Given the description of an element on the screen output the (x, y) to click on. 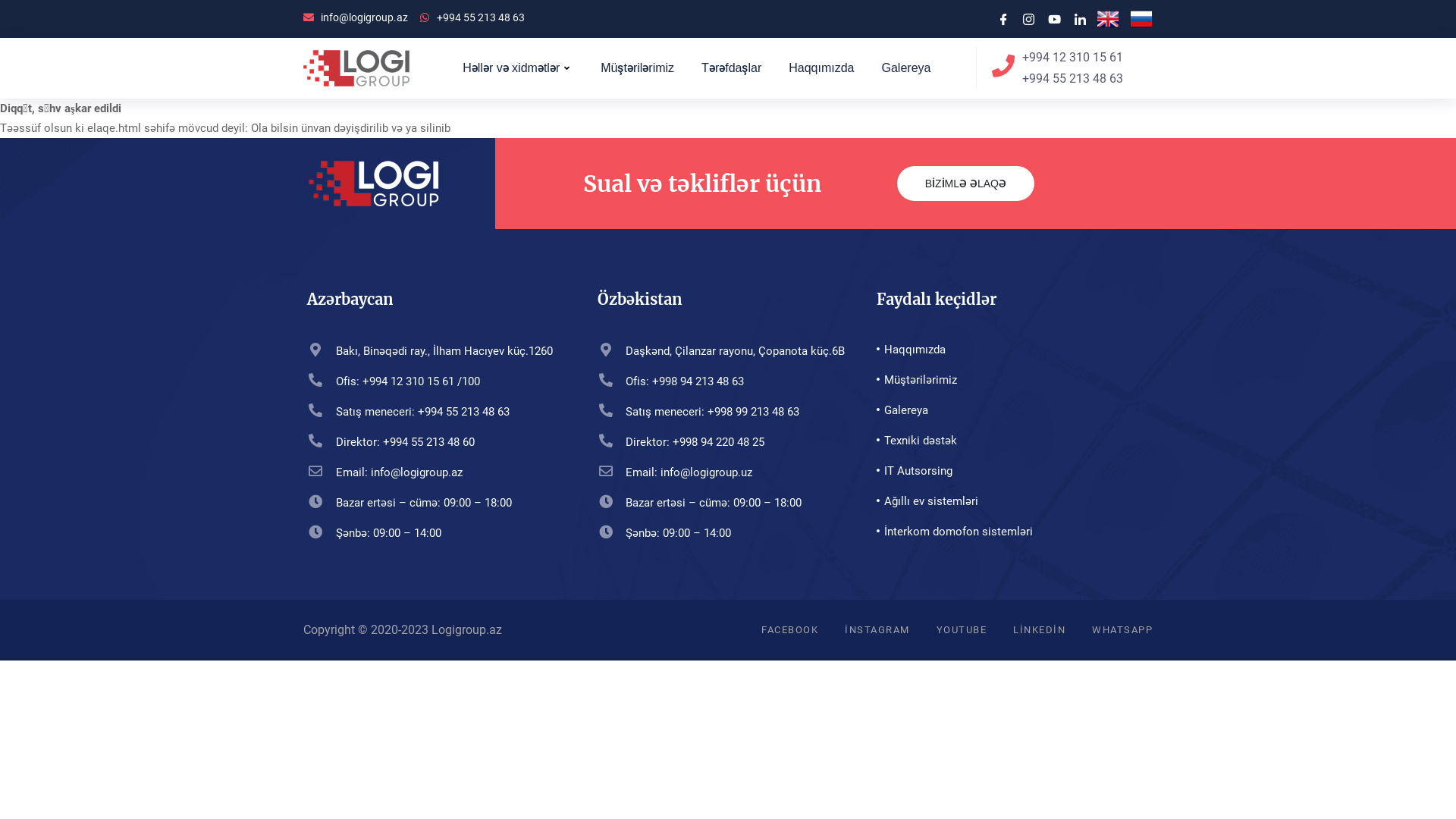
YOUTUBE Element type: text (960, 630)
Ofis: +994 12 310 15 61 /100 Element type: text (431, 381)
IT Autsorsing Element type: text (1005, 470)
Galereya Element type: text (1005, 410)
Direktor: +998 94 220 48 25 Element type: text (721, 441)
LINKEDIN Element type: text (1039, 630)
FACEBOOK Element type: text (789, 630)
Galereya Element type: text (905, 67)
Email: info@logigroup.uz Element type: text (721, 472)
INSTAGRAM Element type: text (877, 630)
Ofis: +998 94 213 48 63 Element type: text (721, 381)
WHATSAPP Element type: text (1122, 630)
Email: info@logigroup.az Element type: text (431, 472)
info@logigroup.az Element type: text (355, 17)
Direktor: +994 55 213 48 60 Element type: text (431, 441)
